Given the description of an element on the screen output the (x, y) to click on. 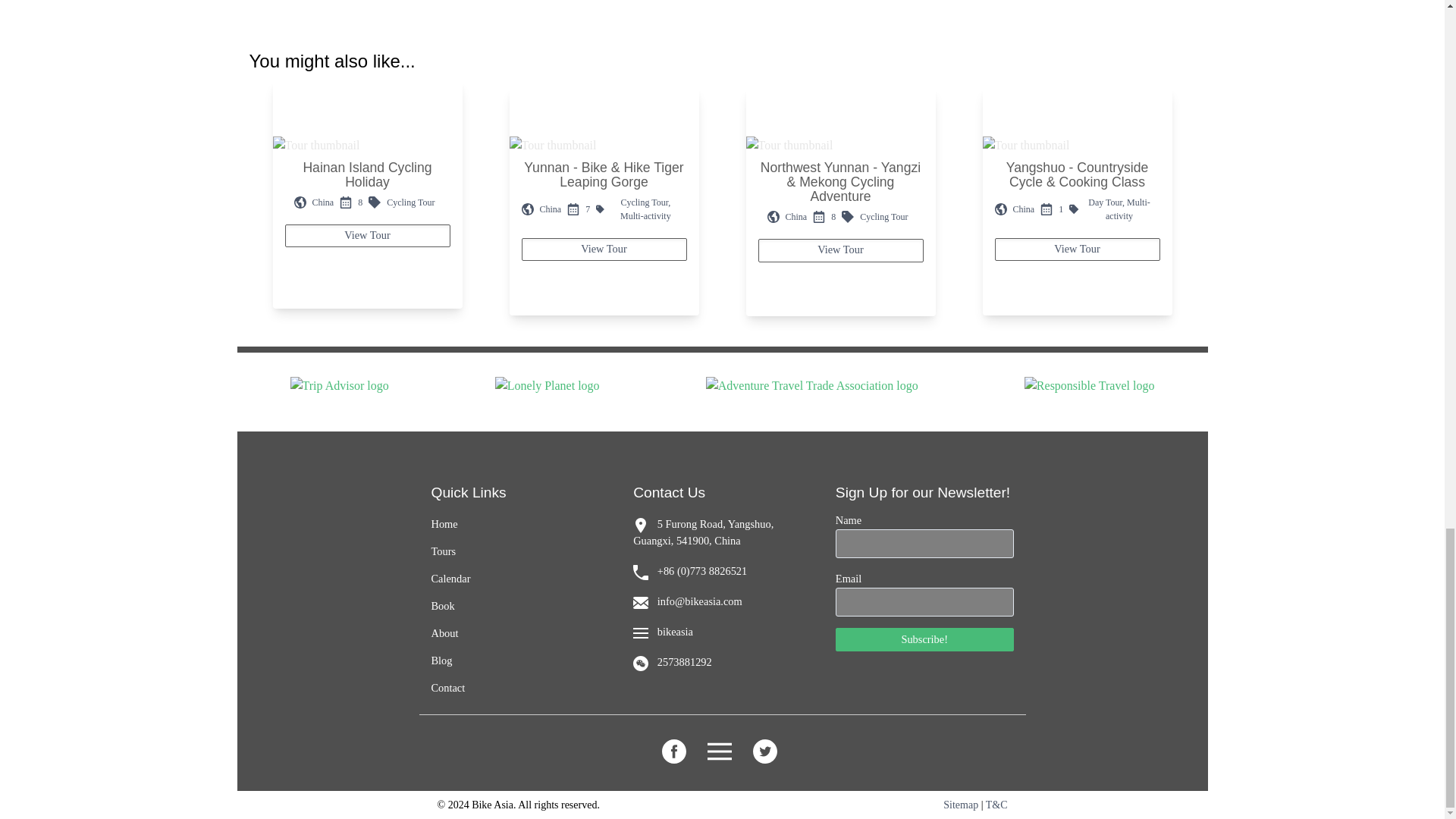
Subscribe! (924, 639)
